Given the description of an element on the screen output the (x, y) to click on. 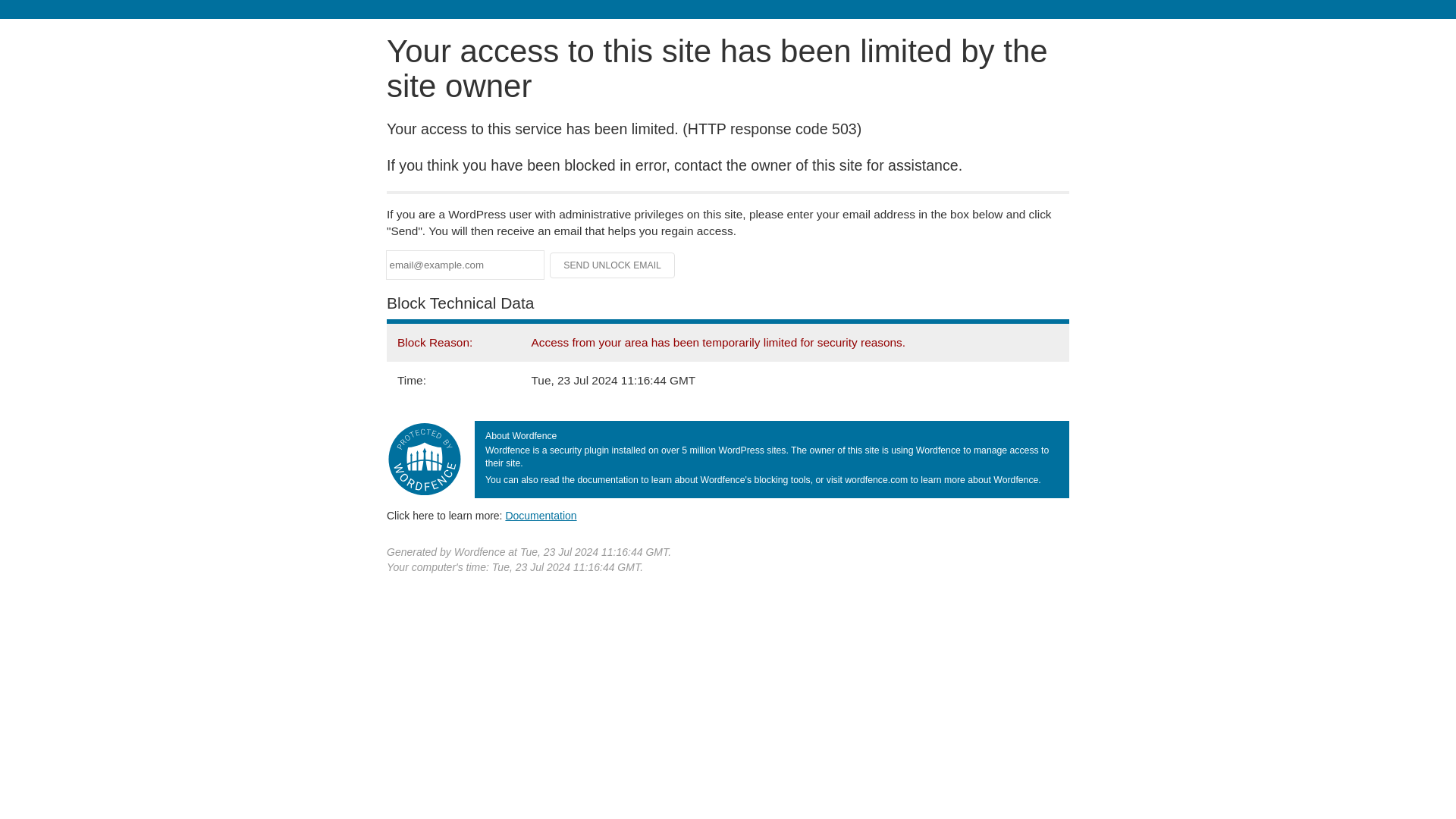
Send Unlock Email (612, 265)
Documentation (540, 515)
Send Unlock Email (612, 265)
